Given the description of an element on the screen output the (x, y) to click on. 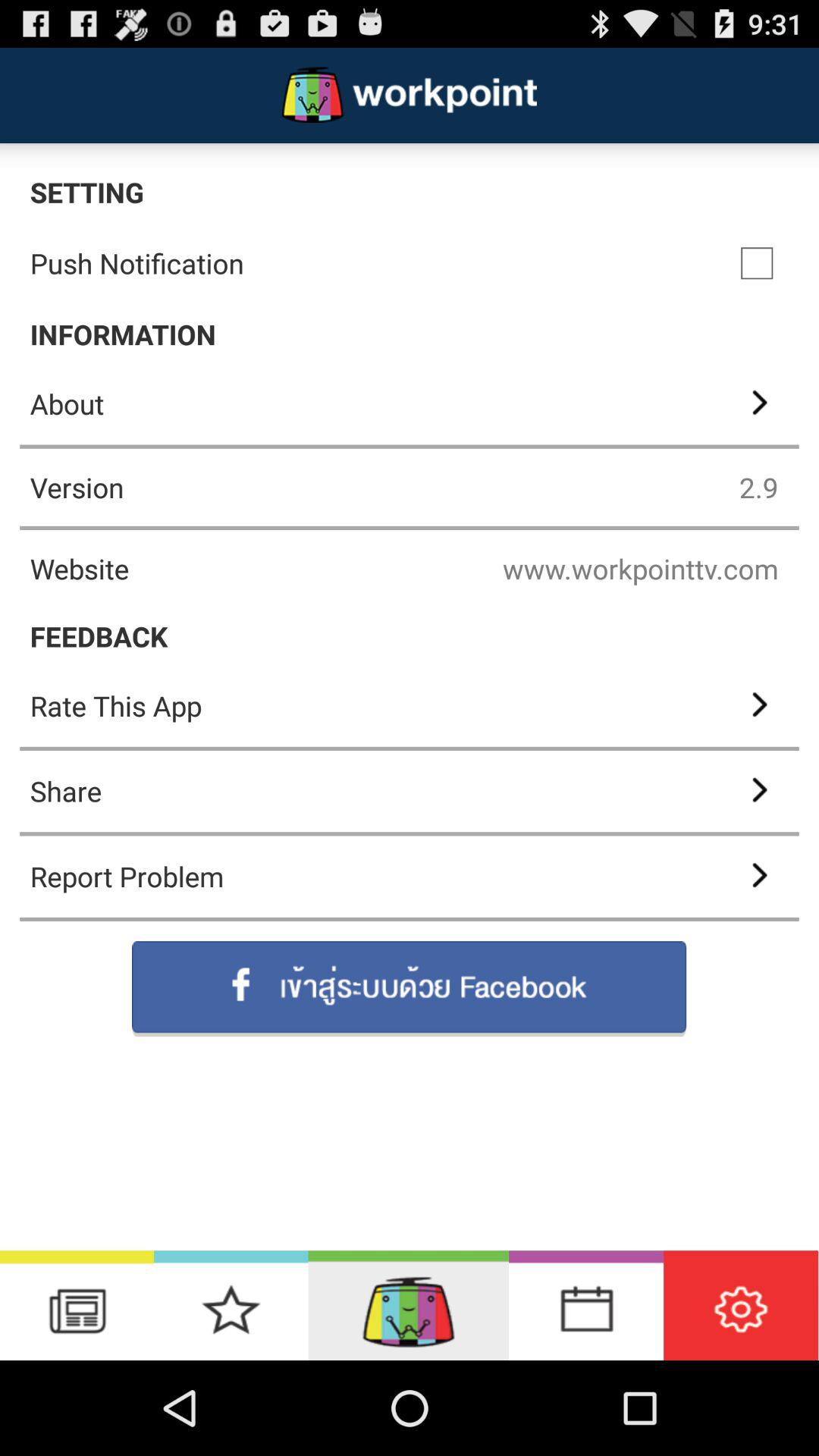
click on button under feedback (409, 705)
click on the button next to report problem (758, 876)
select the second button at bottom menu bar (230, 1304)
